Given the description of an element on the screen output the (x, y) to click on. 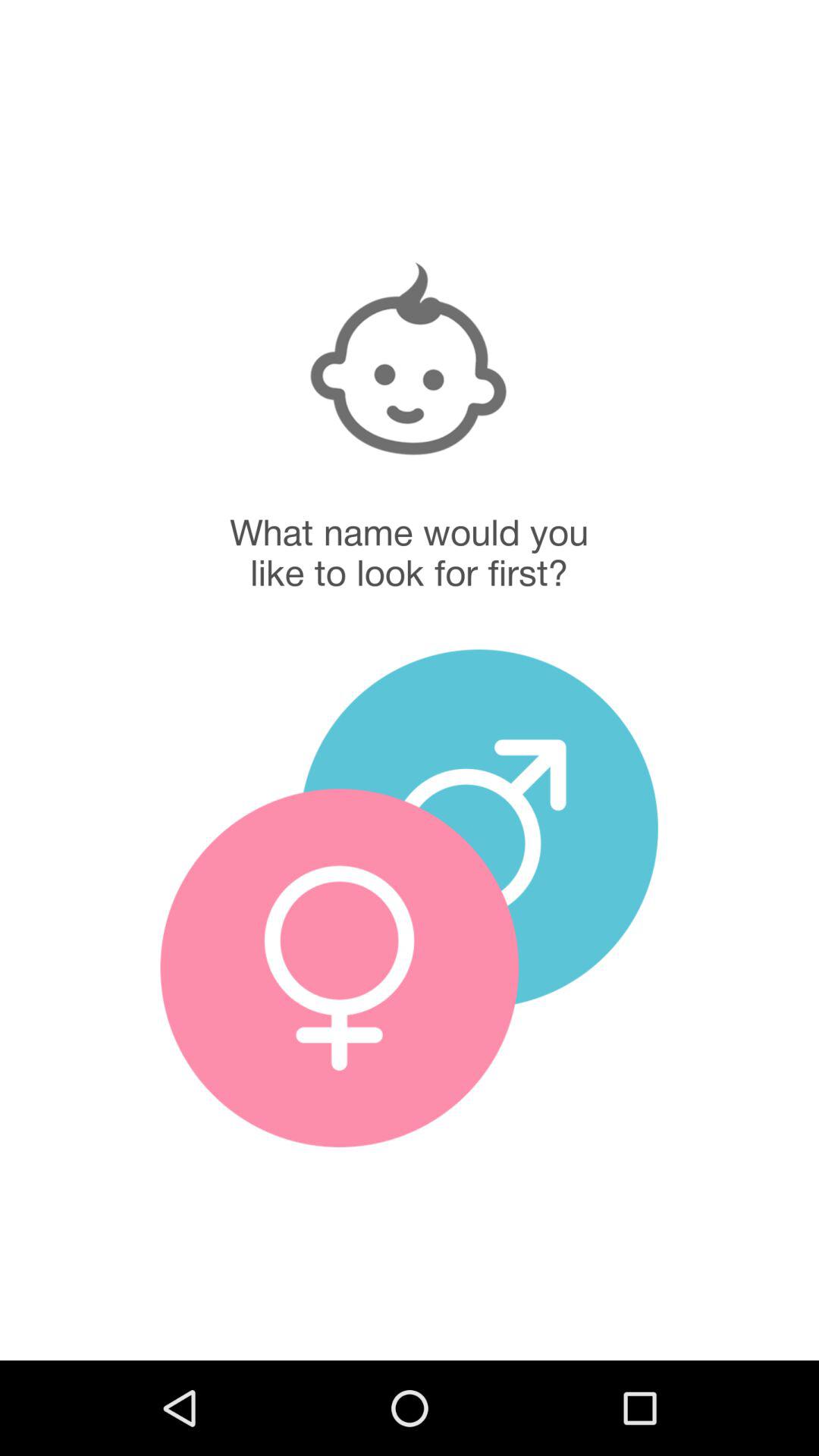
make names (478, 828)
